Given the description of an element on the screen output the (x, y) to click on. 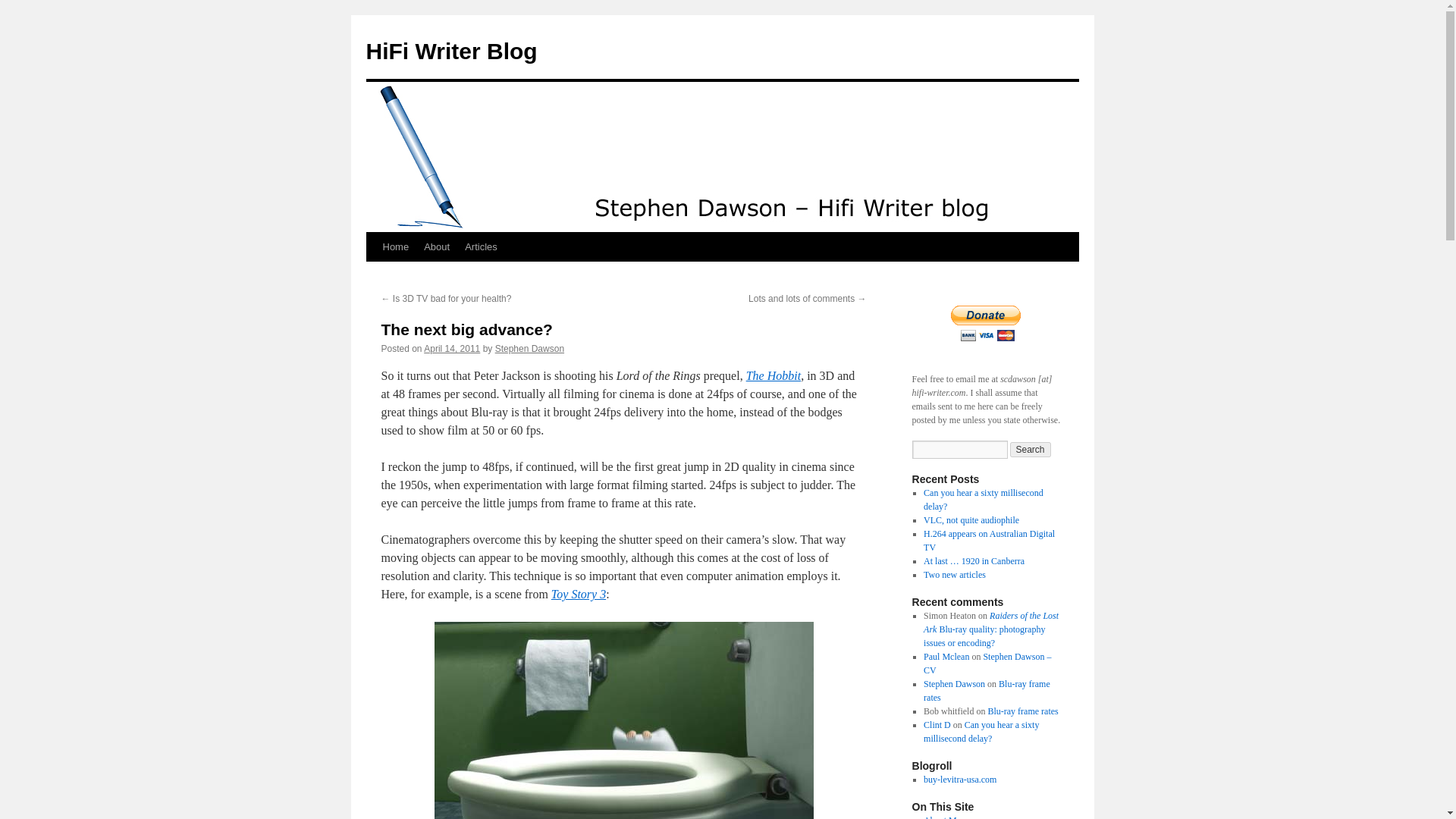
11:02 am (451, 348)
Paul Mclean (946, 656)
April 14, 2011 (451, 348)
Smeared movement on Toy Story 3 (622, 720)
View all posts by Stephen Dawson (529, 348)
Search (1030, 449)
Home (395, 246)
HiFi Writer Blog (451, 50)
All about the website owner, Stephen Dawson (941, 816)
H.264 appears on Australian Digital TV (988, 540)
Toy Story 3 (578, 594)
Can you hear a sixty millisecond delay? (983, 499)
Stephen Dawson (954, 683)
VLC, not quite audiophile (971, 520)
